Given the description of an element on the screen output the (x, y) to click on. 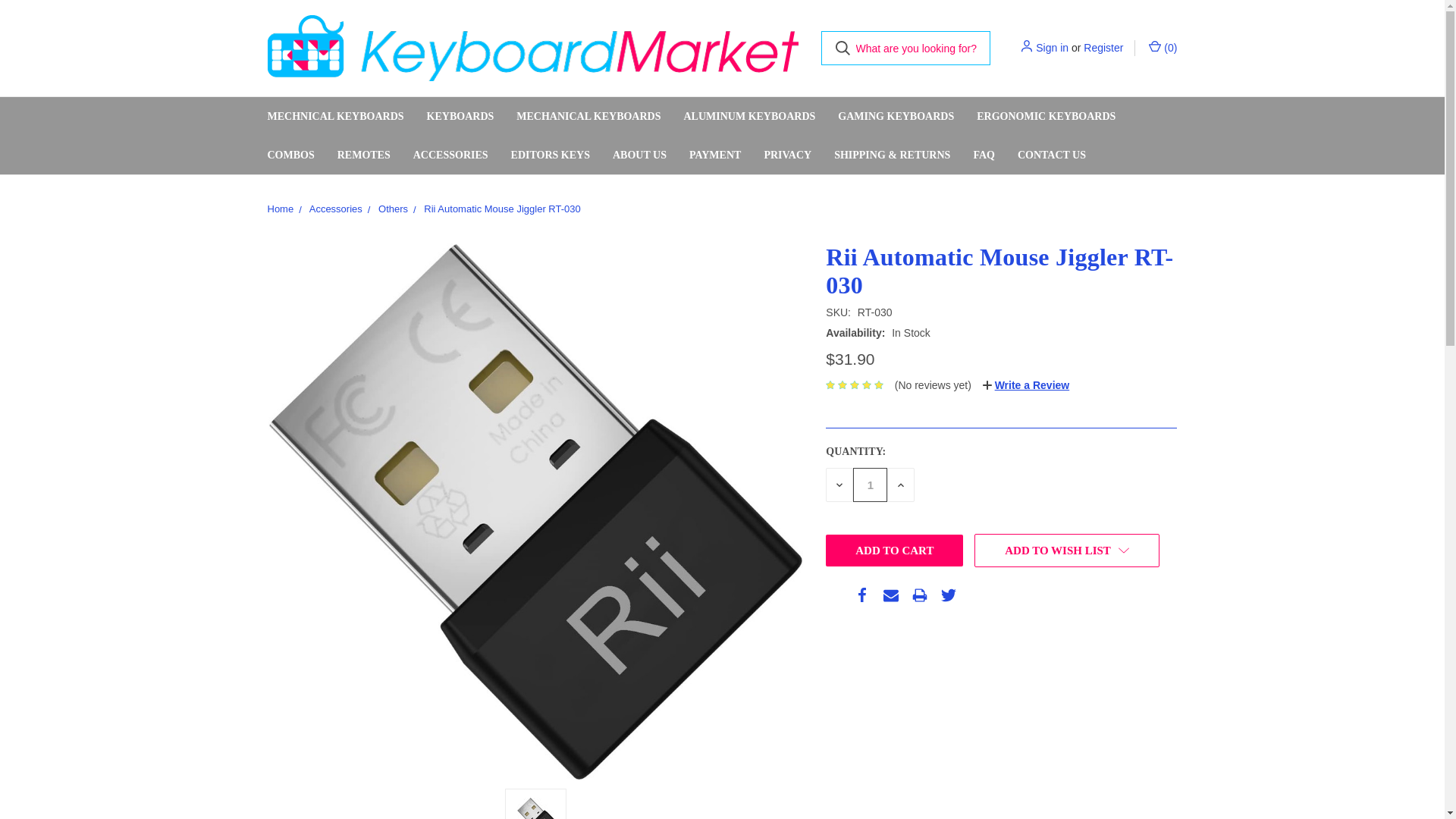
COMBOS (291, 154)
ABOUT US (639, 154)
KEYBOARDS (459, 116)
ACCESSORIES (450, 154)
ALUMINUM KEYBOARDS (749, 116)
Register (1102, 48)
GAMING KEYBOARDS (896, 116)
Others (392, 208)
CONTACT US (1051, 154)
Accessories (335, 208)
Home (280, 208)
REMOTES (363, 154)
Add to Cart (893, 550)
ERGONOMIC KEYBOARDS (1045, 116)
1 (869, 484)
